Given the description of an element on the screen output the (x, y) to click on. 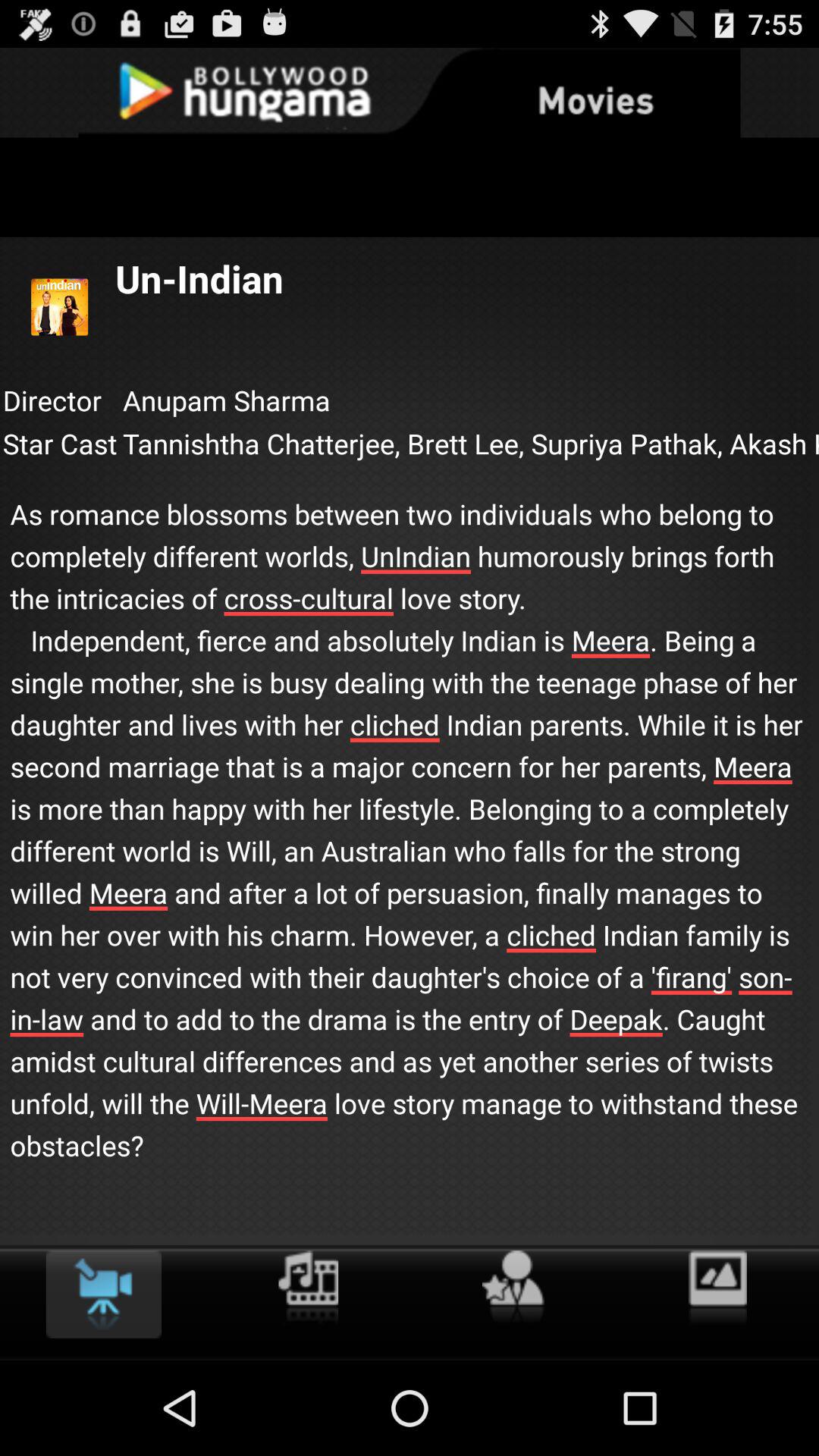
scroll until as romance blossoms icon (409, 814)
